Given the description of an element on the screen output the (x, y) to click on. 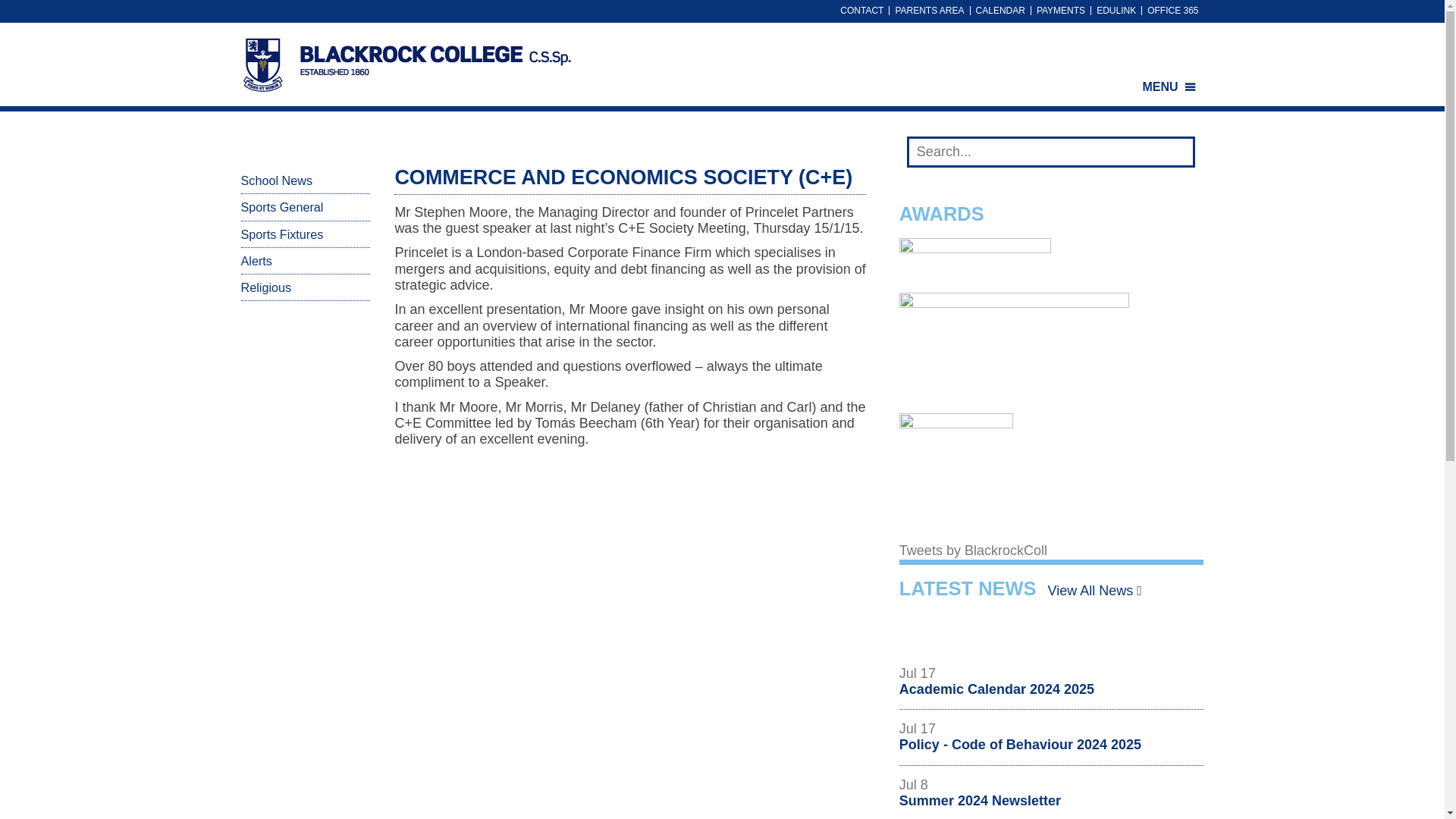
EDULINK (1115, 10)
OFFICE 365 (1172, 10)
CONTACT (861, 10)
CALENDAR (1000, 10)
PAYMENTS (1060, 10)
MENU (1169, 87)
PARENTS AREA (929, 10)
